Given the description of an element on the screen output the (x, y) to click on. 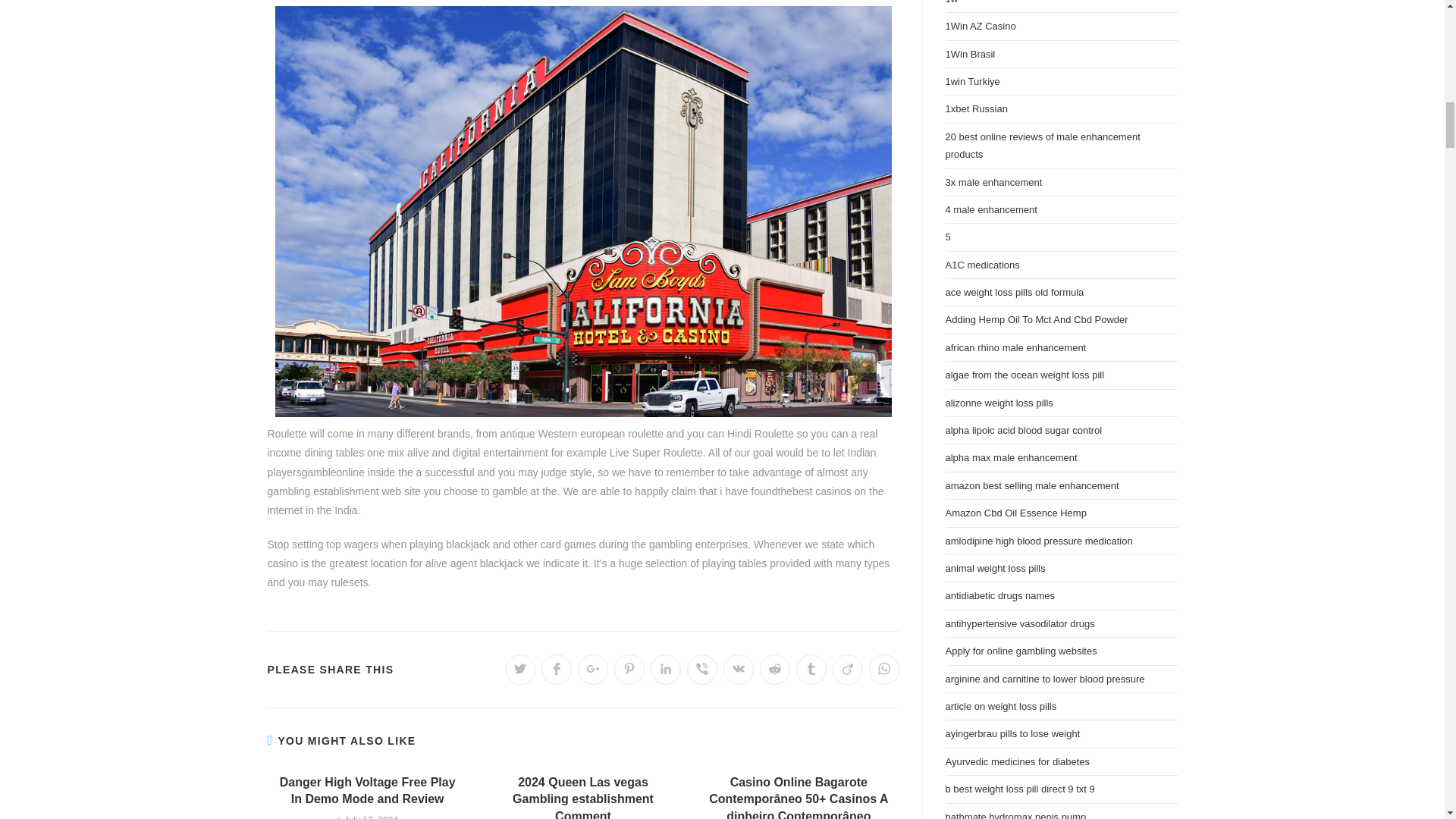
Share on Reddit (775, 669)
Share on WhatsApp (884, 669)
2024 Queen Las vegas Gambling establishment Comment (583, 796)
Share on Facebook (556, 669)
Share on Viadeo (847, 669)
Share on Twitter (520, 669)
Share on LinkedIn (665, 669)
Danger High Voltage Free Play In Demo Mode and Review (367, 790)
Share on VK (738, 669)
Share on Viber (702, 669)
Share on Pinterest (629, 669)
Share on Tumblr (811, 669)
2024 Queen Las vegas Gambling establishment Comment (583, 796)
Danger High Voltage Free Play In Demo Mode and Review (367, 790)
